Given the description of an element on the screen output the (x, y) to click on. 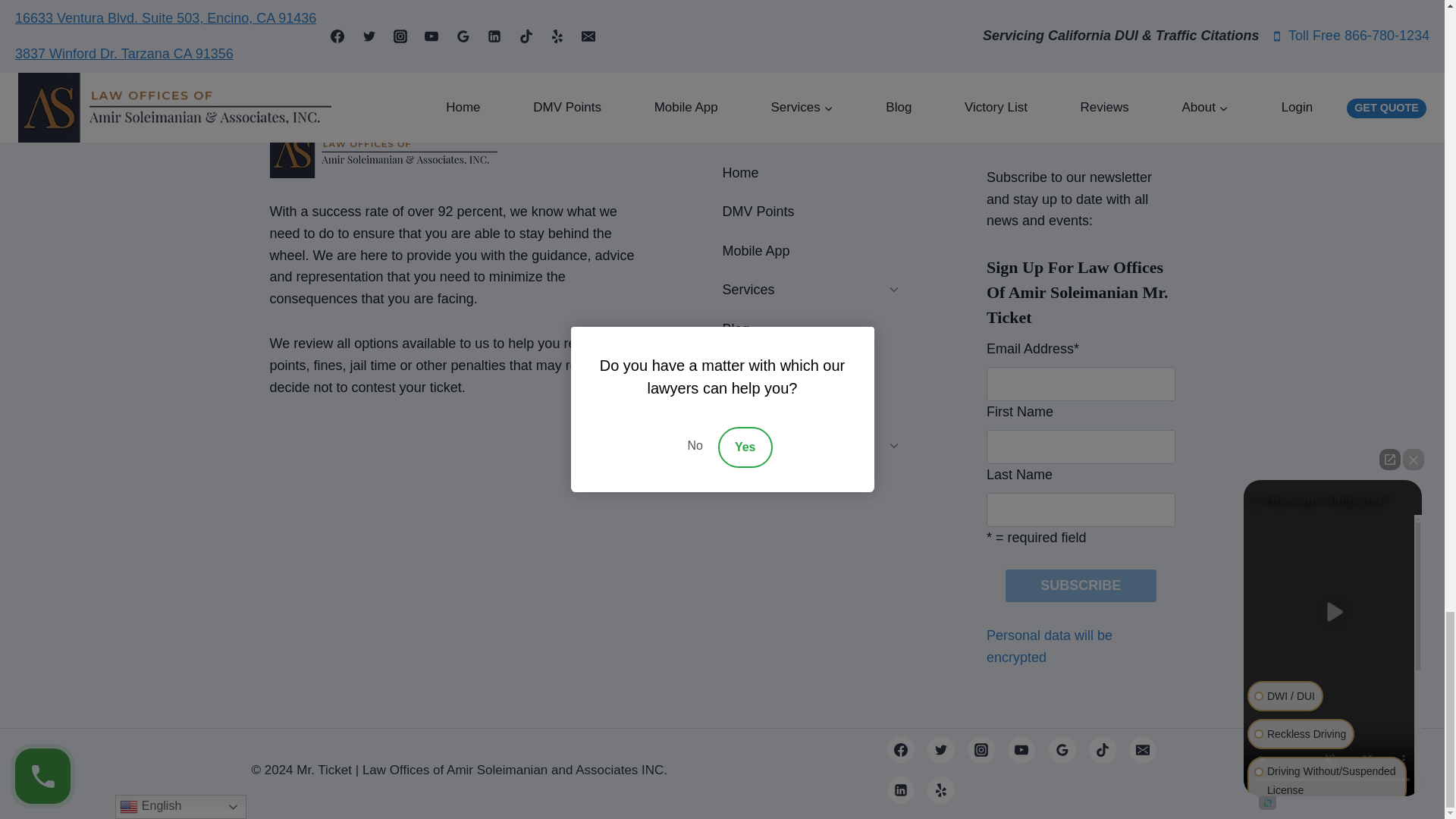
Subscribe (1081, 585)
